Given the description of an element on the screen output the (x, y) to click on. 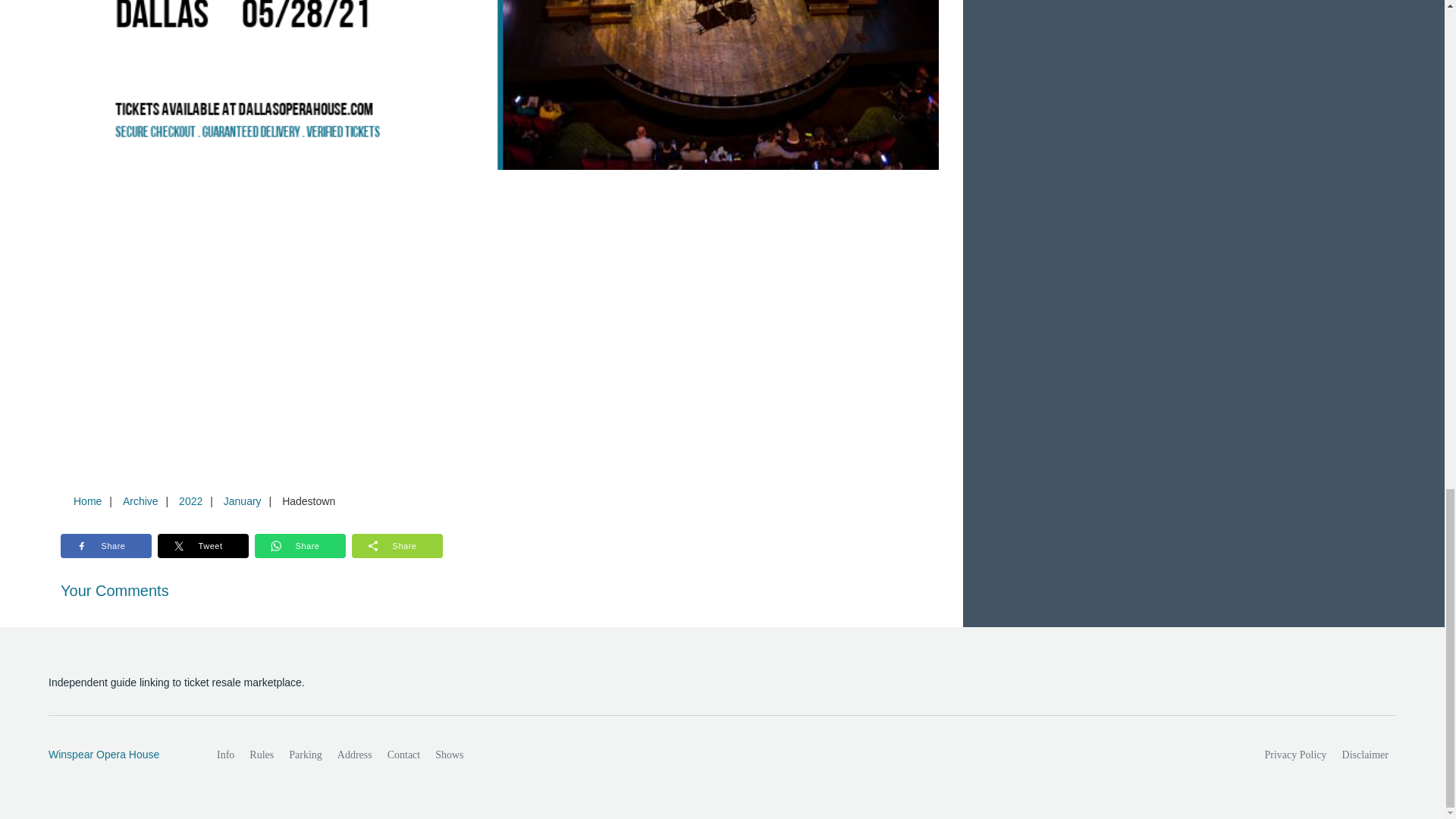
January (242, 500)
Disclaimer (1365, 755)
Rules (261, 755)
Address (355, 755)
Parking (305, 755)
Home (87, 500)
Archive (140, 500)
Winspear Opera House (116, 754)
Contact (404, 755)
Privacy Policy (1296, 755)
2022 (190, 500)
Info (225, 755)
Shows (449, 755)
